Given the description of an element on the screen output the (x, y) to click on. 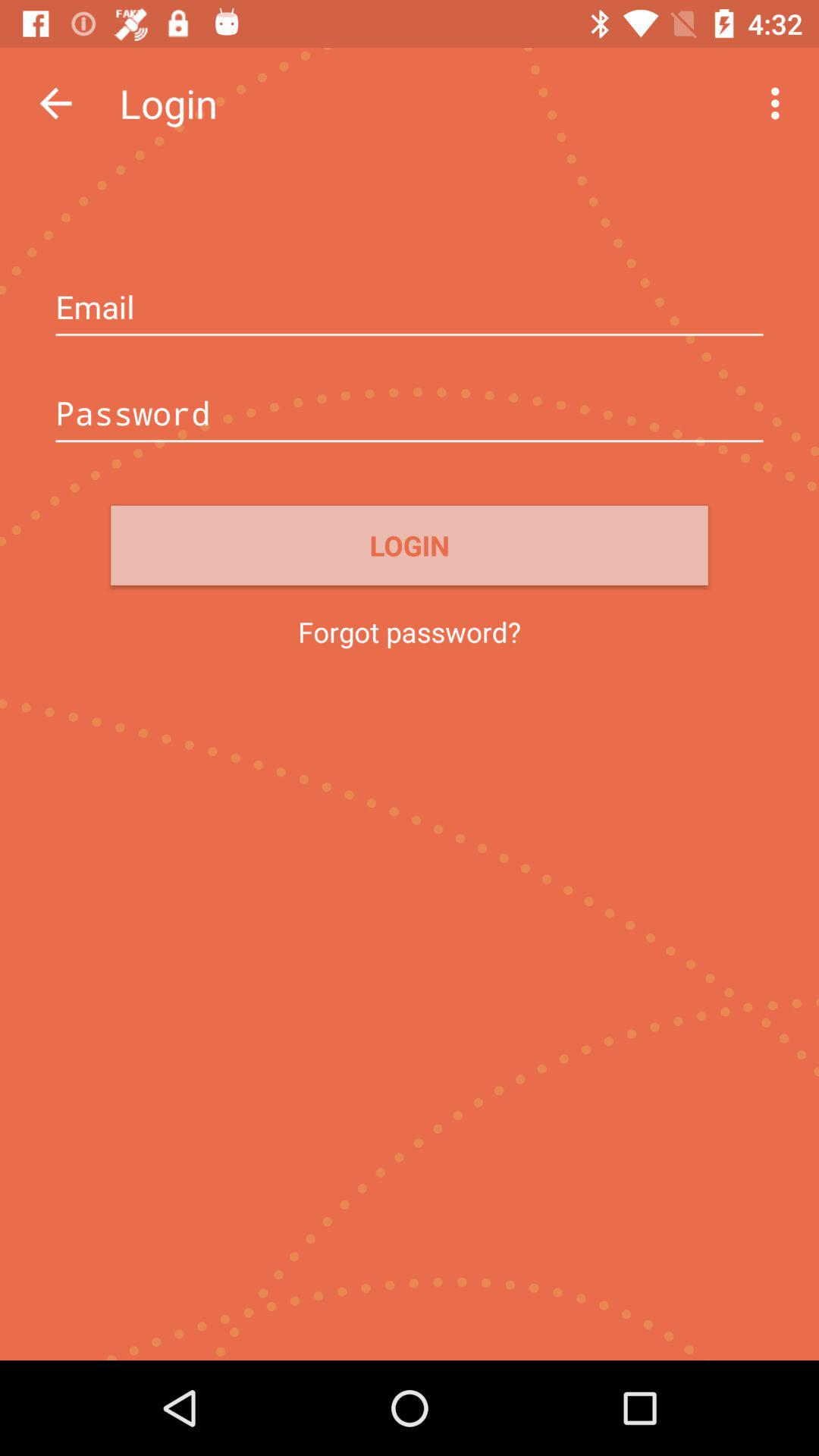
input password (409, 415)
